Given the description of an element on the screen output the (x, y) to click on. 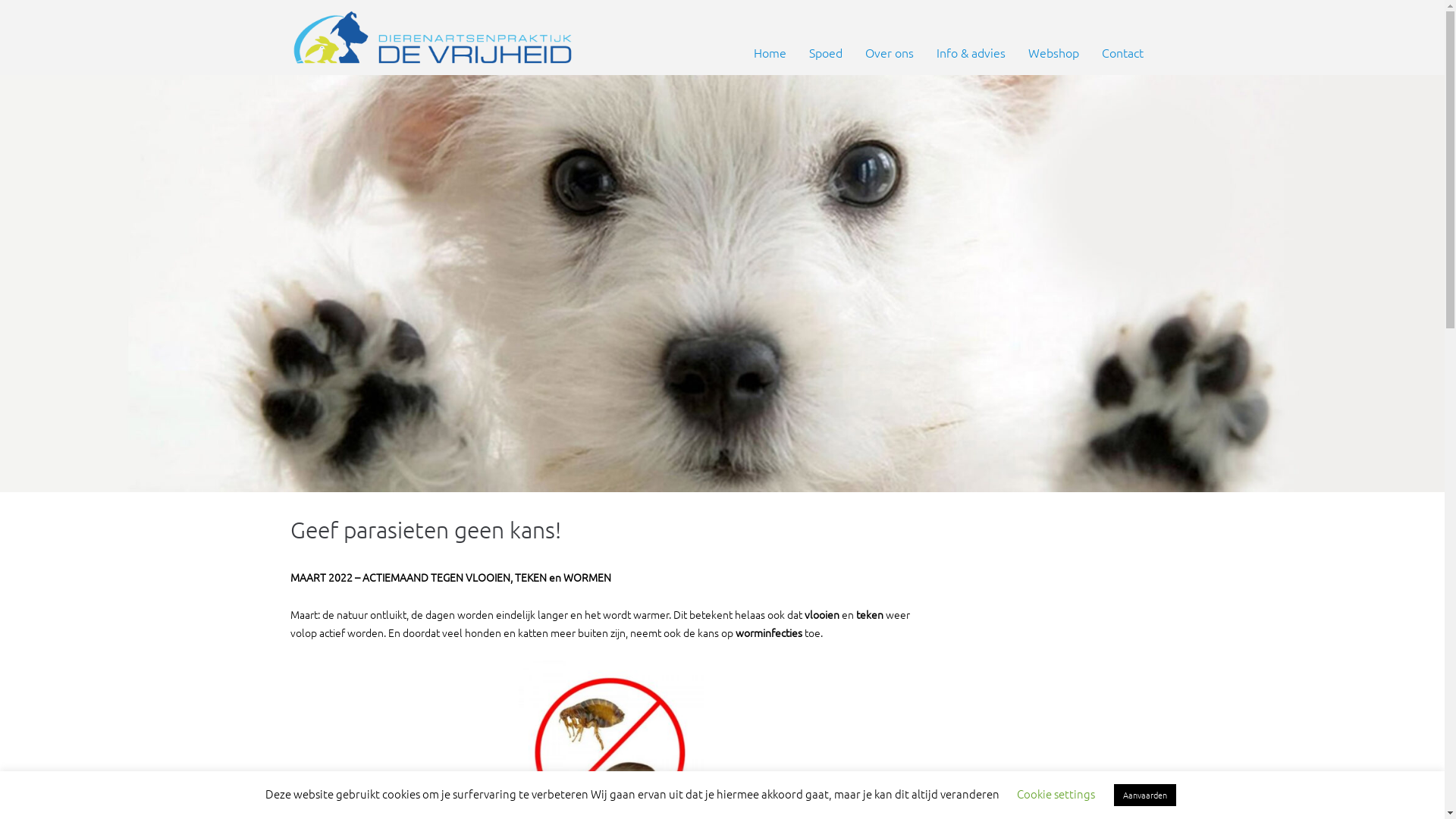
Over ons Element type: text (889, 52)
Spoed Element type: text (825, 52)
Info & advies Element type: text (970, 52)
Webshop Element type: text (1052, 52)
Home Element type: text (769, 52)
Aanvaarden Element type: text (1144, 795)
Cookie settings Element type: text (1055, 793)
Contact Element type: text (1122, 52)
